Given the description of an element on the screen output the (x, y) to click on. 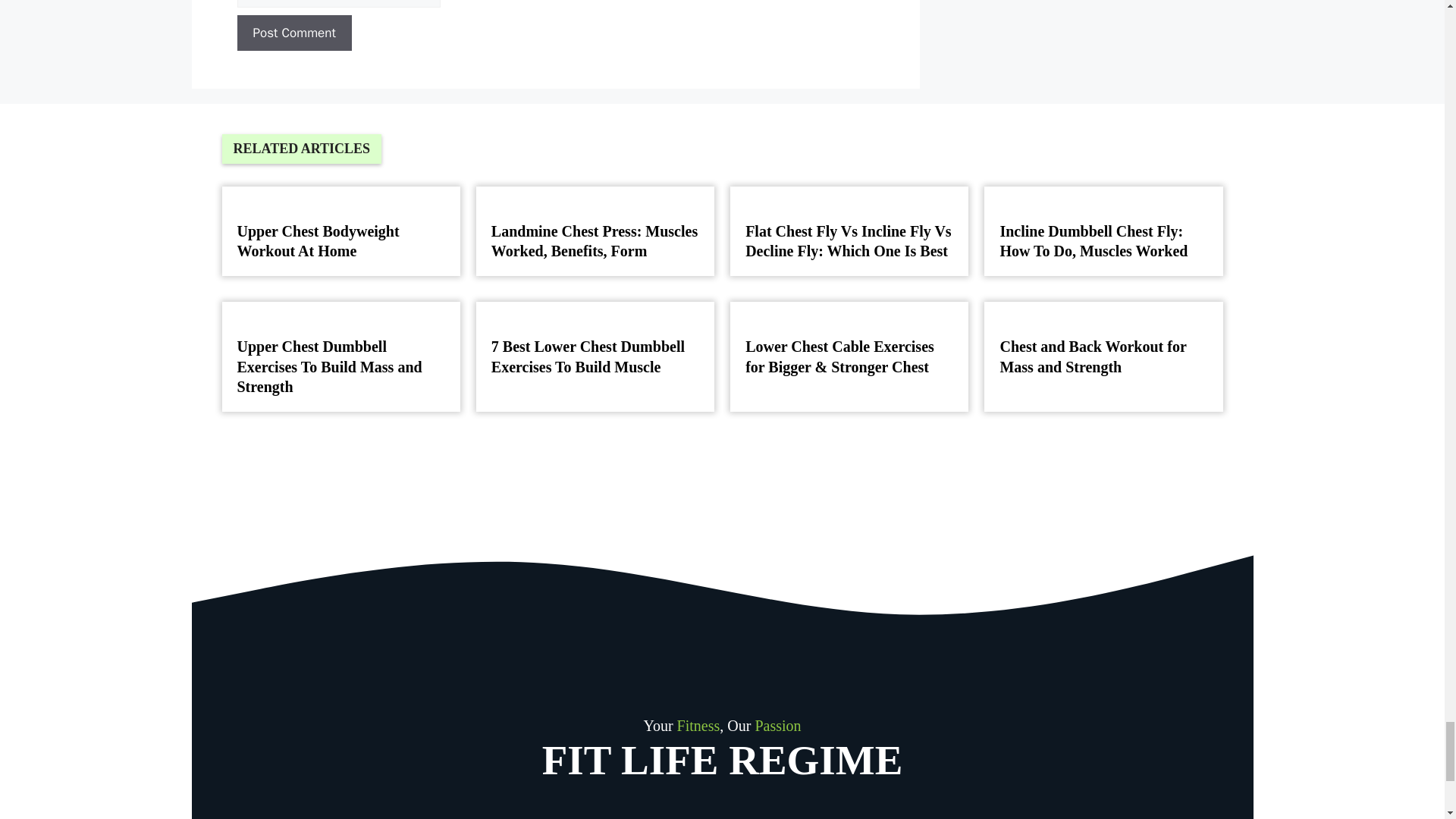
Post Comment (292, 33)
